Given the description of an element on the screen output the (x, y) to click on. 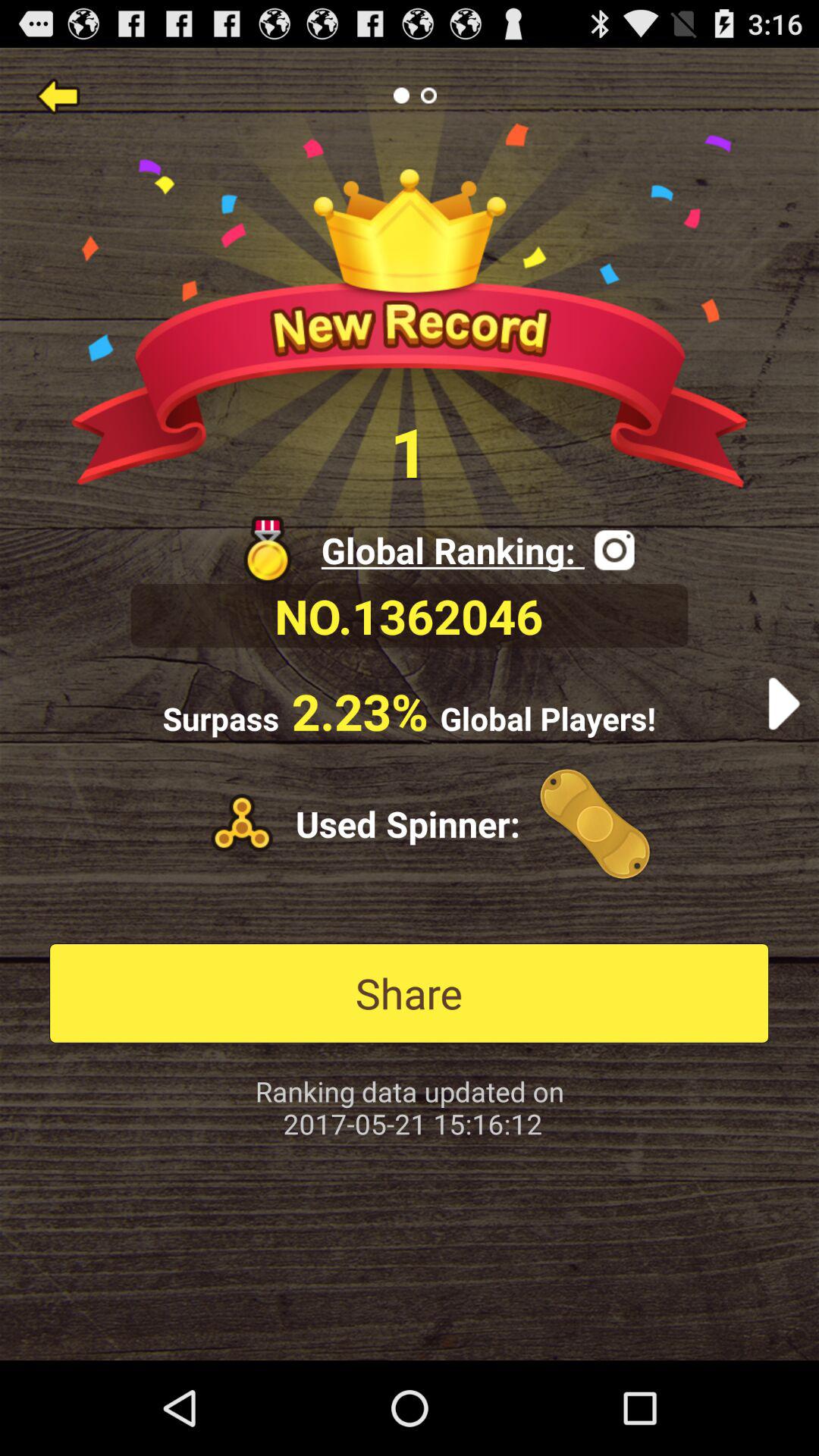
next option (784, 703)
